Given the description of an element on the screen output the (x, y) to click on. 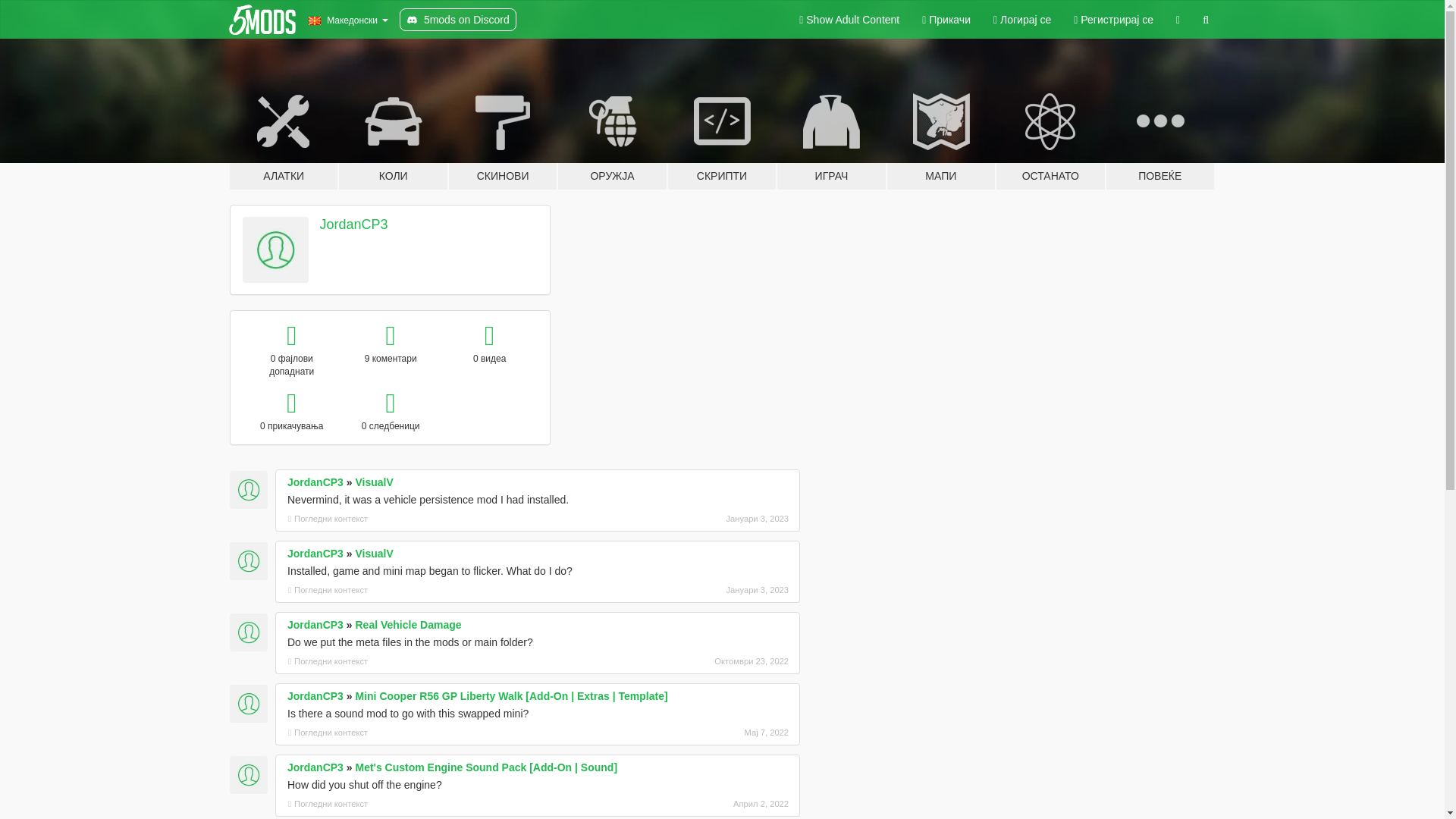
5mods on Discord (457, 19)
Light mode (849, 19)
Show Adult Content (849, 19)
